Given the description of an element on the screen output the (x, y) to click on. 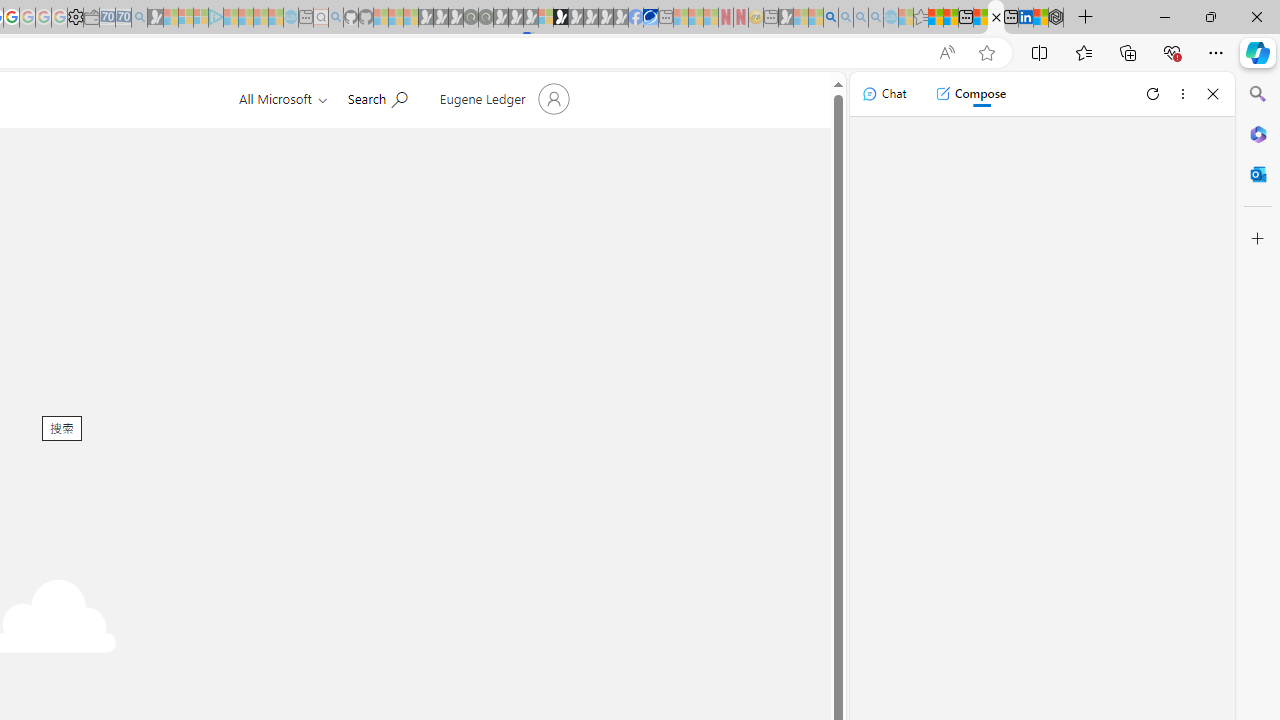
AQI & Health | AirNow.gov (650, 17)
